Given the description of an element on the screen output the (x, y) to click on. 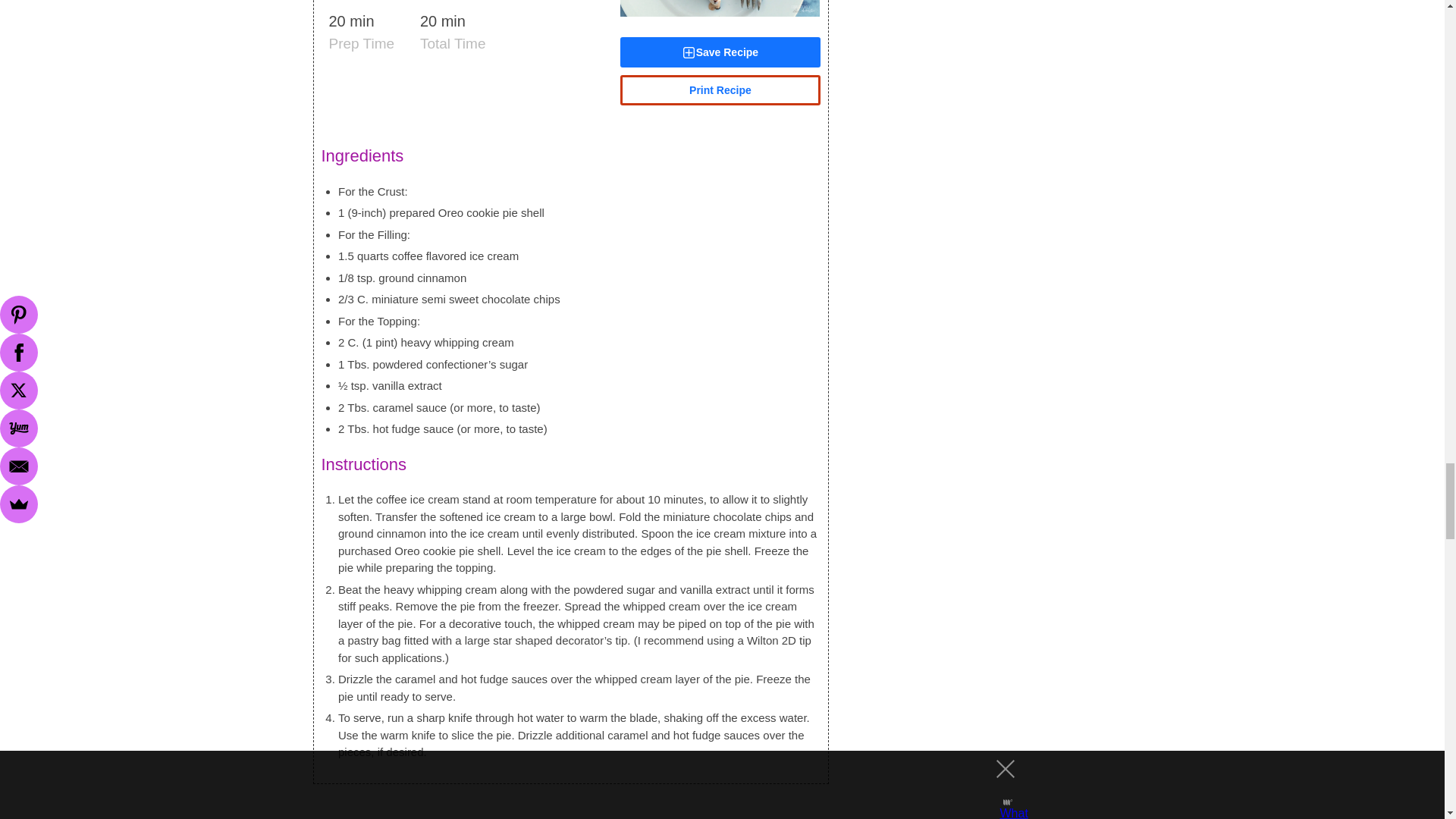
Save Recipe to Mealplannerpro.com (719, 51)
Print this recipe (719, 90)
